Given the description of an element on the screen output the (x, y) to click on. 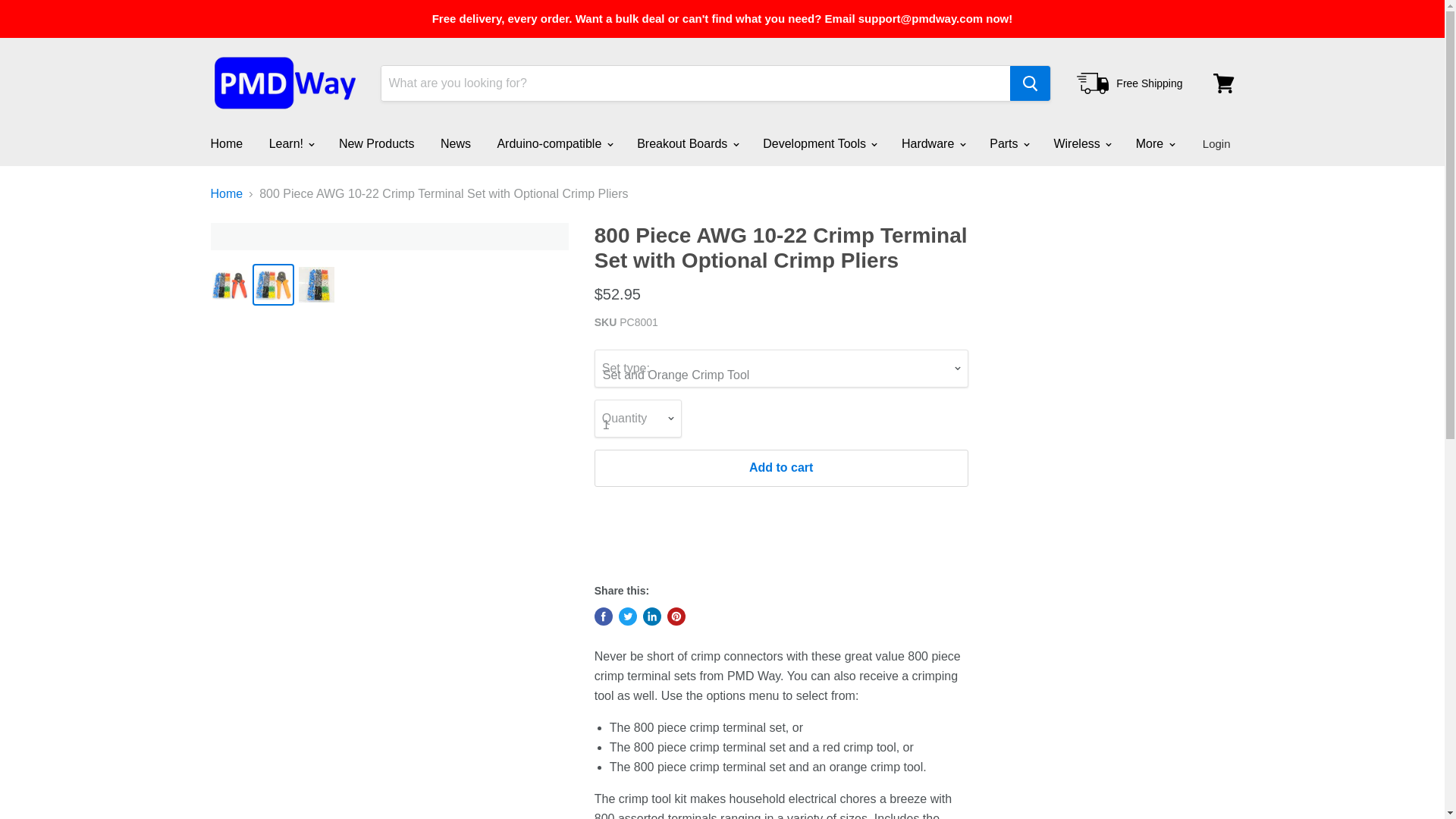
News (455, 143)
Learn! (290, 143)
View cart (1223, 83)
New Products (376, 143)
Arduino-compatible (552, 143)
Home (225, 143)
